Given the description of an element on the screen output the (x, y) to click on. 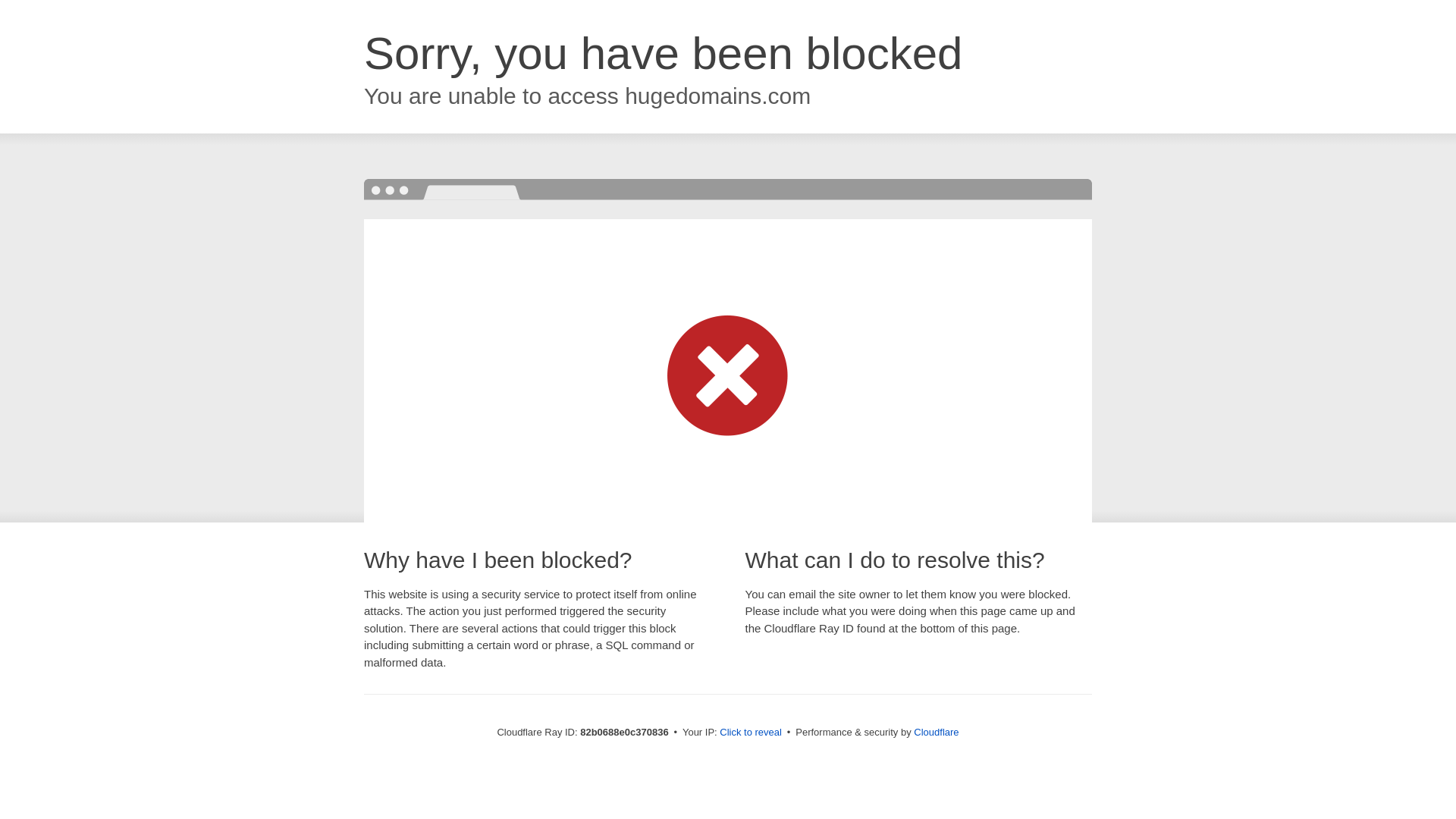
Cloudflare Element type: text (935, 731)
Click to reveal Element type: text (750, 732)
